Given the description of an element on the screen output the (x, y) to click on. 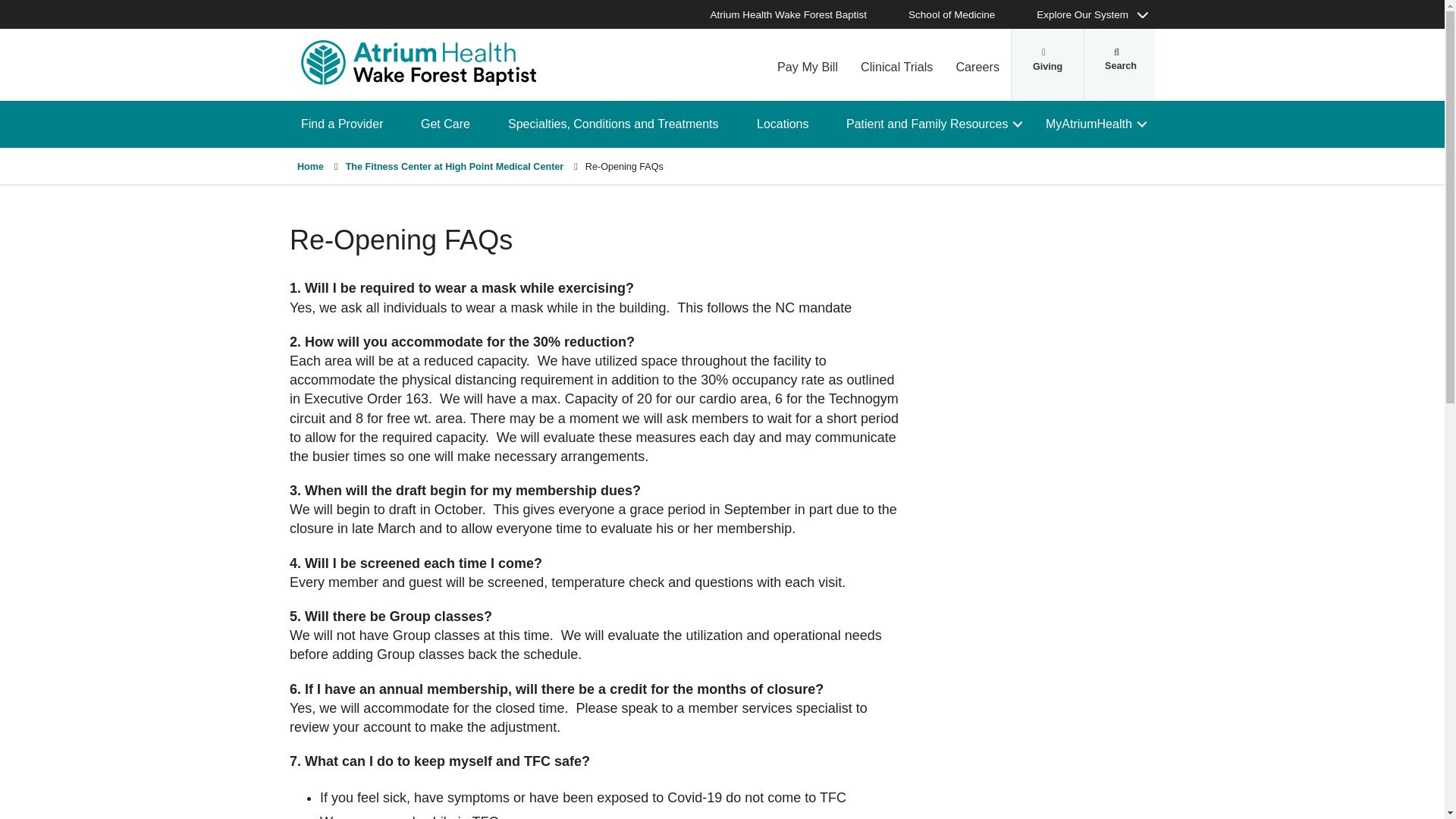
Atrium Health Wake Forest Baptist (418, 62)
Find a Provider (347, 124)
Giving (1047, 64)
Locations (788, 124)
Get Care (451, 124)
Clinical Trials (895, 64)
Pay My Bill (806, 64)
Atrium Health Wake Forest Baptist (796, 14)
Site Search (1118, 64)
School of Medicine (959, 14)
